Given the description of an element on the screen output the (x, y) to click on. 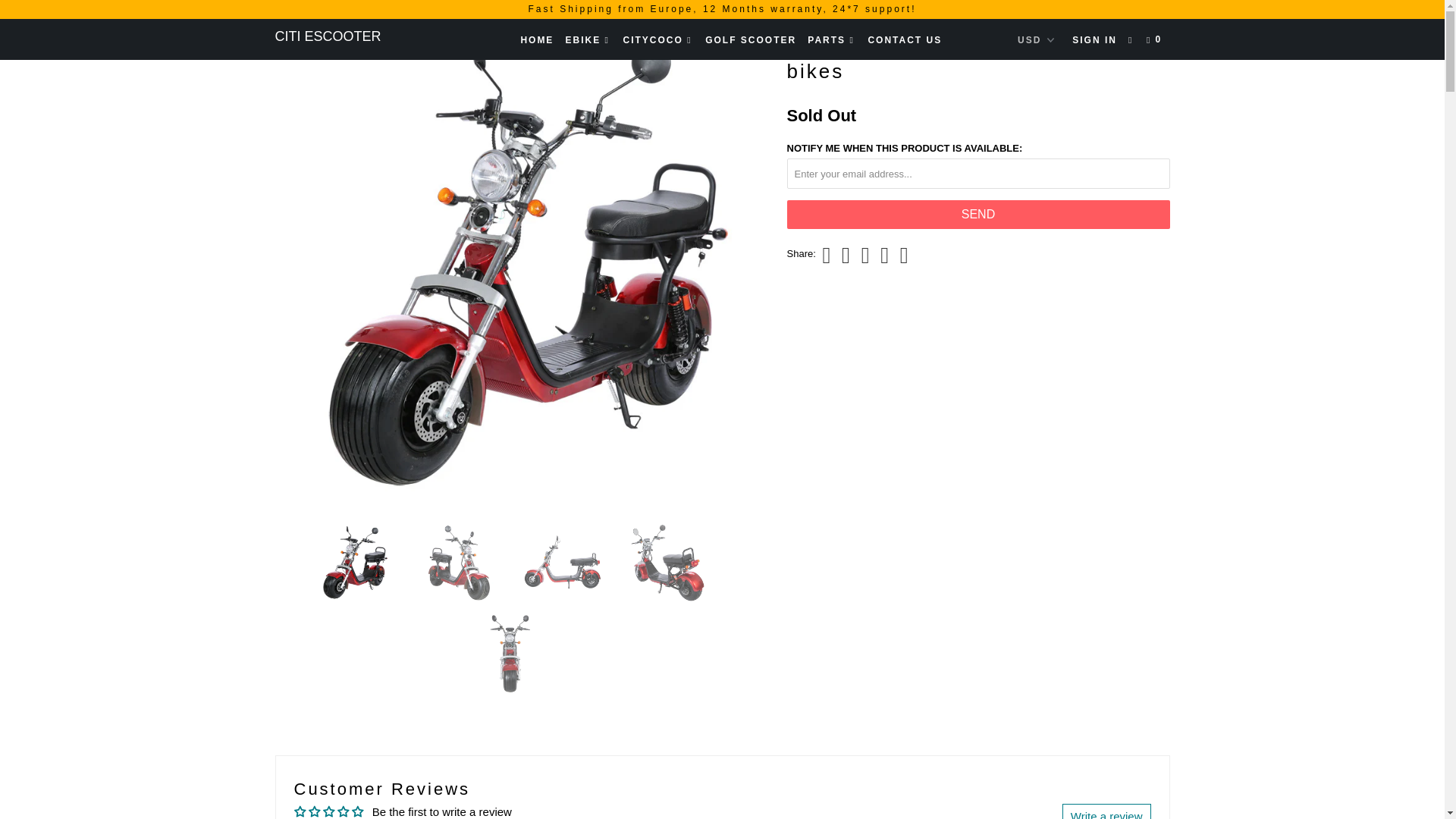
HOME (536, 39)
My Account  (1093, 39)
CITI ESCOOTER (352, 36)
SIGN IN (1093, 39)
0 (1154, 39)
CITI ESCOOTER (352, 36)
EBIKE (588, 39)
Send (978, 214)
